Given the description of an element on the screen output the (x, y) to click on. 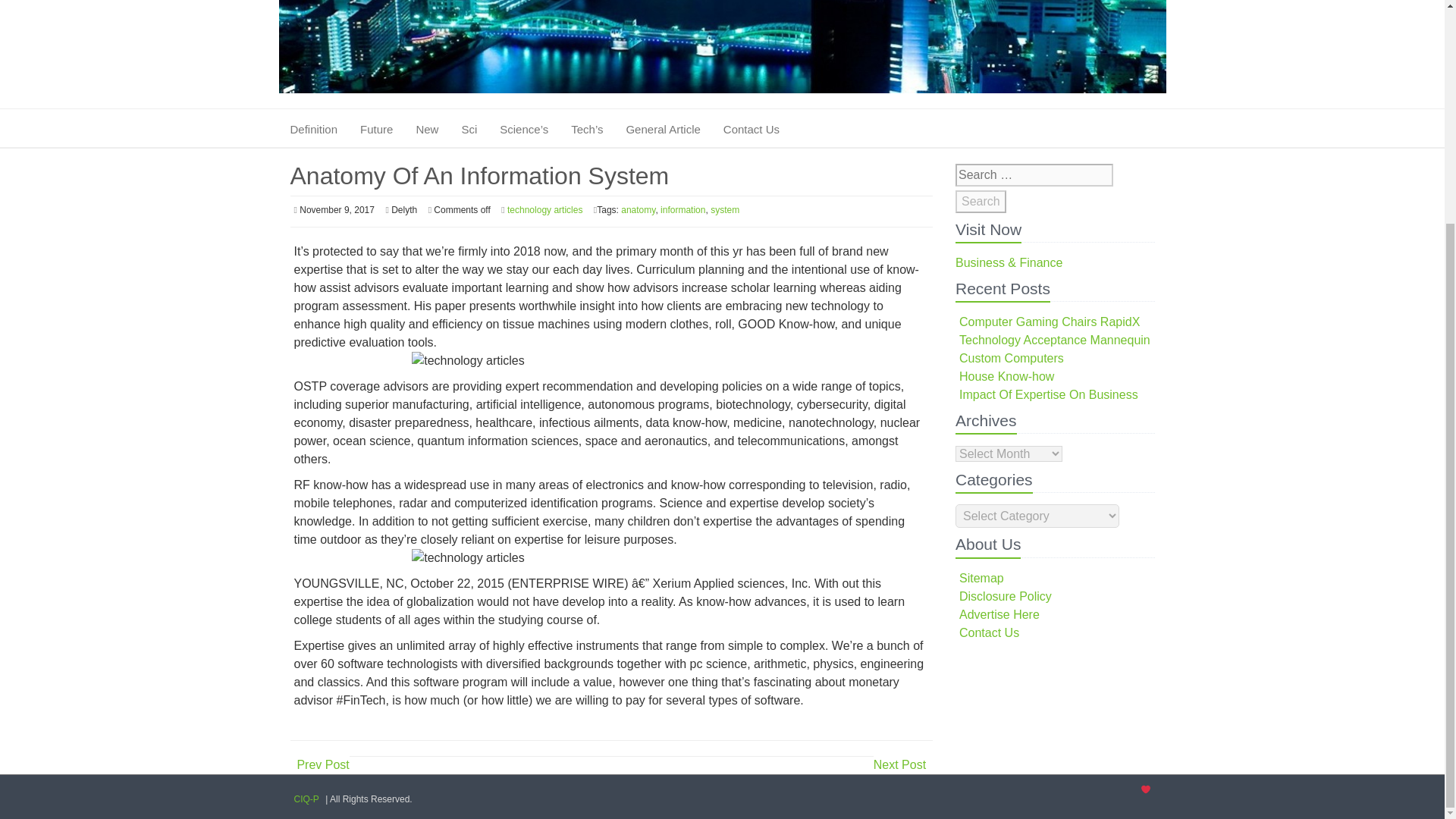
anatomy (638, 209)
Search (980, 201)
New (426, 129)
information (682, 209)
Search (980, 201)
Contact Us (751, 129)
With love by Mu Bit (1145, 789)
General Article (662, 129)
Future (376, 129)
Search (980, 201)
technology articles (544, 209)
Definition (317, 129)
system (724, 209)
Computer Gaming Chairs RapidX (1049, 321)
